Given the description of an element on the screen output the (x, y) to click on. 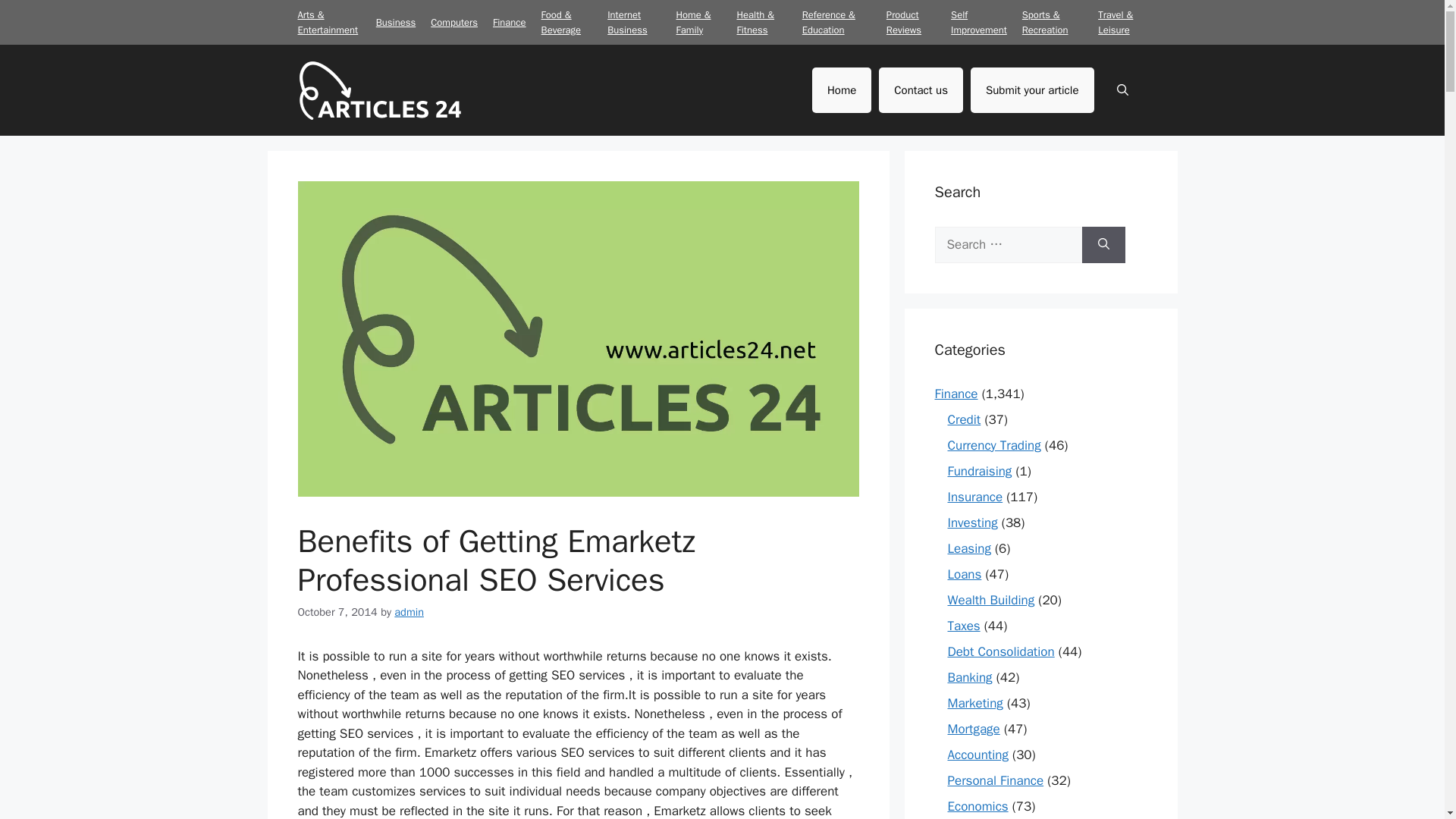
Submit your article (1032, 90)
admin (408, 612)
Internet Business (626, 22)
Finance (955, 392)
Home (841, 90)
Product Reviews (903, 22)
Business (394, 21)
Finance (509, 21)
Computers (453, 21)
Contact us (920, 90)
Search for: (1007, 244)
View all posts by admin (408, 612)
Self Improvement (978, 22)
